Given the description of an element on the screen output the (x, y) to click on. 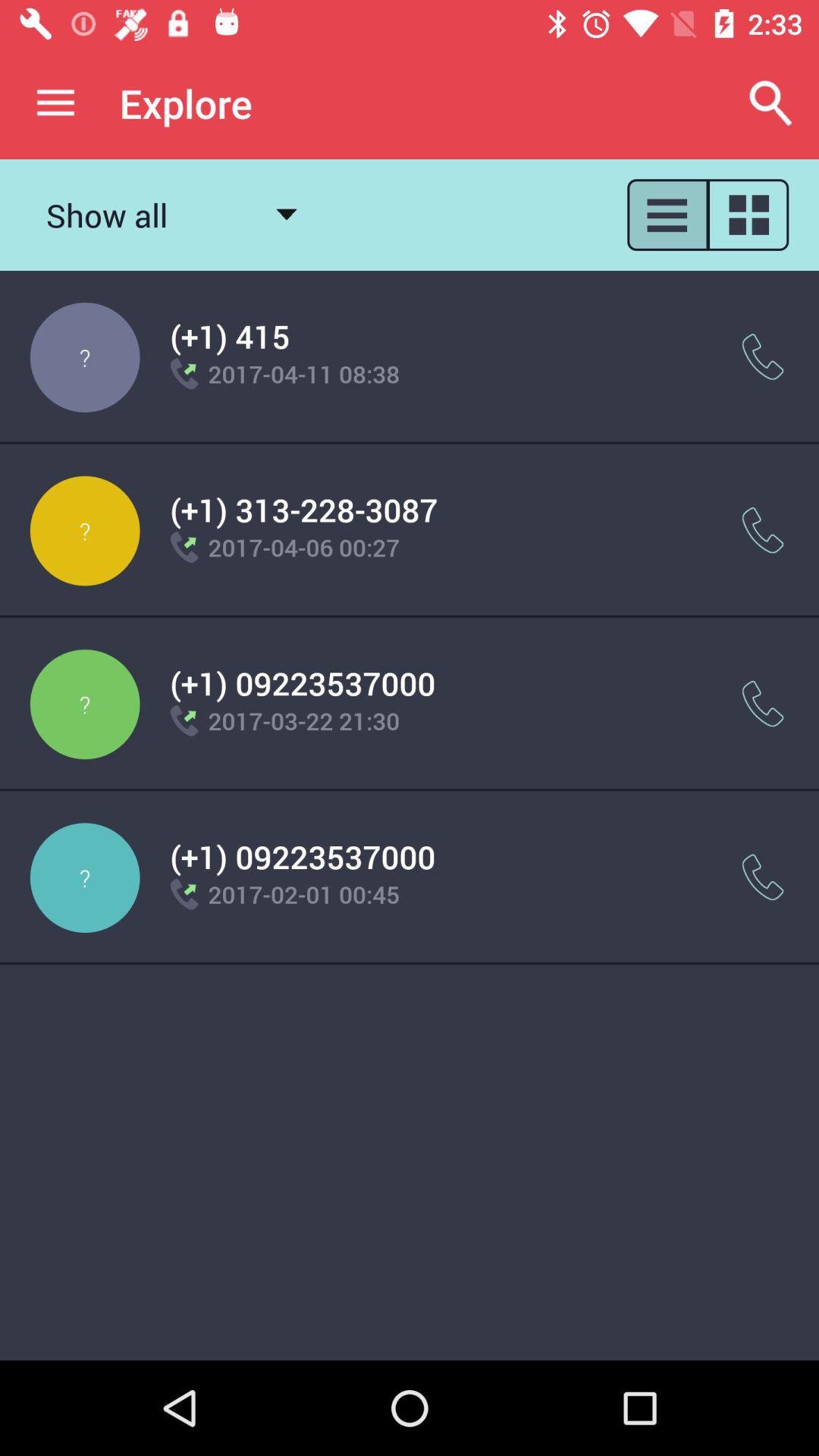
select item to the right of the 1 313 228 icon (762, 530)
